Given the description of an element on the screen output the (x, y) to click on. 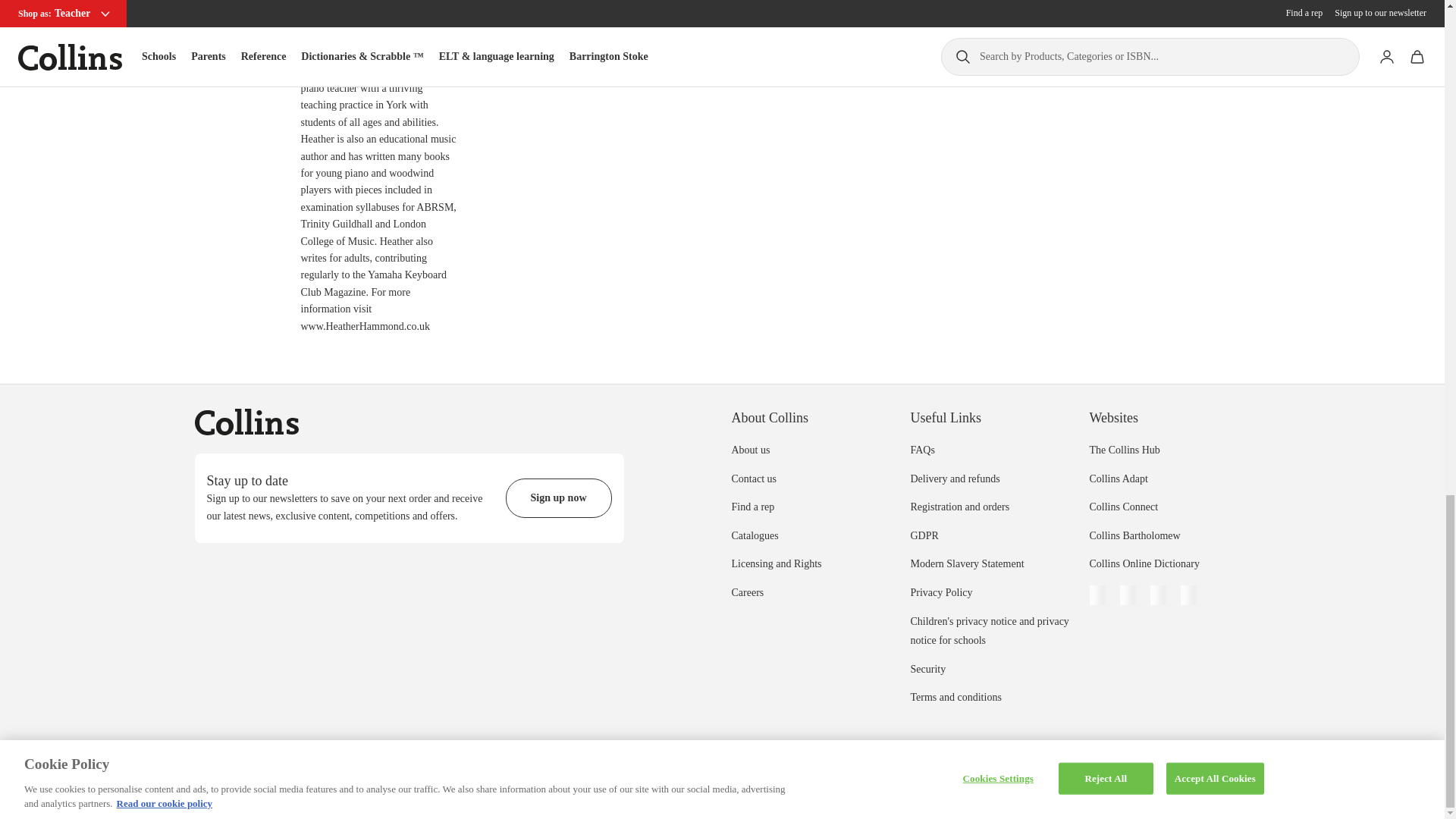
Careers (746, 592)
Licensing and Rights (775, 563)
Sign up now (558, 497)
Find a rep (752, 506)
Contact us (753, 478)
Catalogues (753, 535)
About us (750, 449)
